Given the description of an element on the screen output the (x, y) to click on. 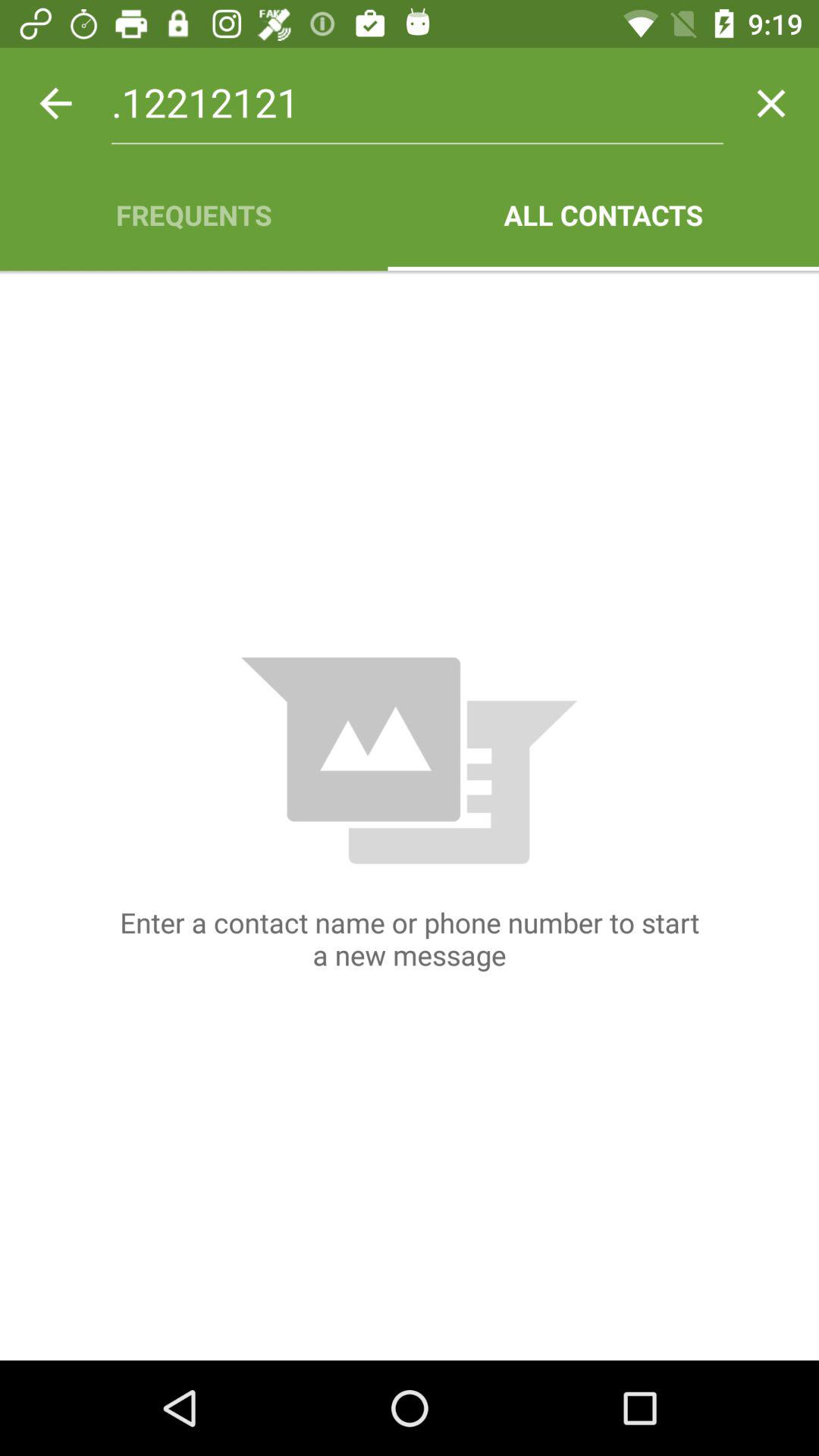
jump until .12212121 icon (417, 103)
